Given the description of an element on the screen output the (x, y) to click on. 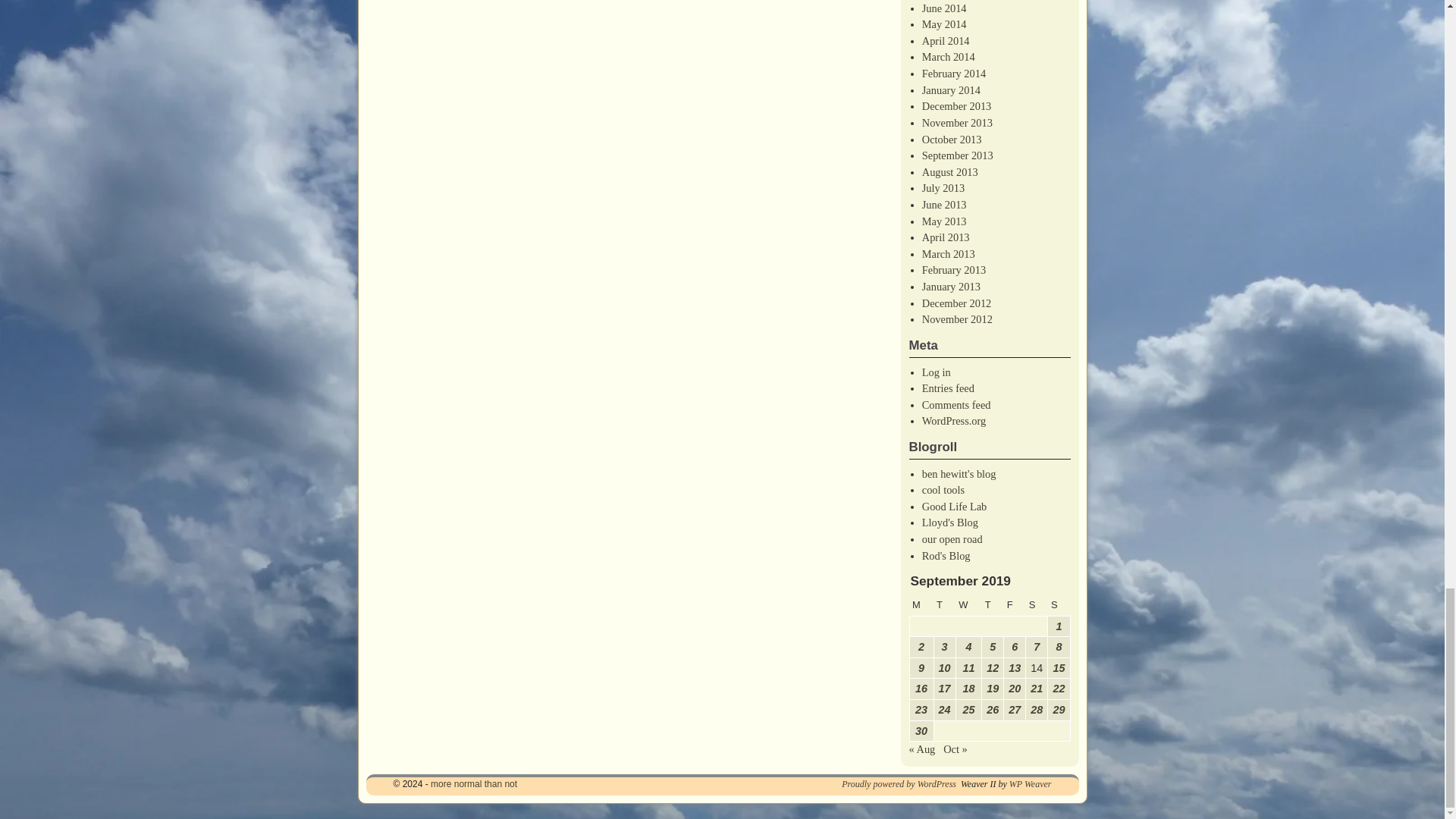
Monday (920, 604)
creative living in New Mexico (954, 506)
